Given the description of an element on the screen output the (x, y) to click on. 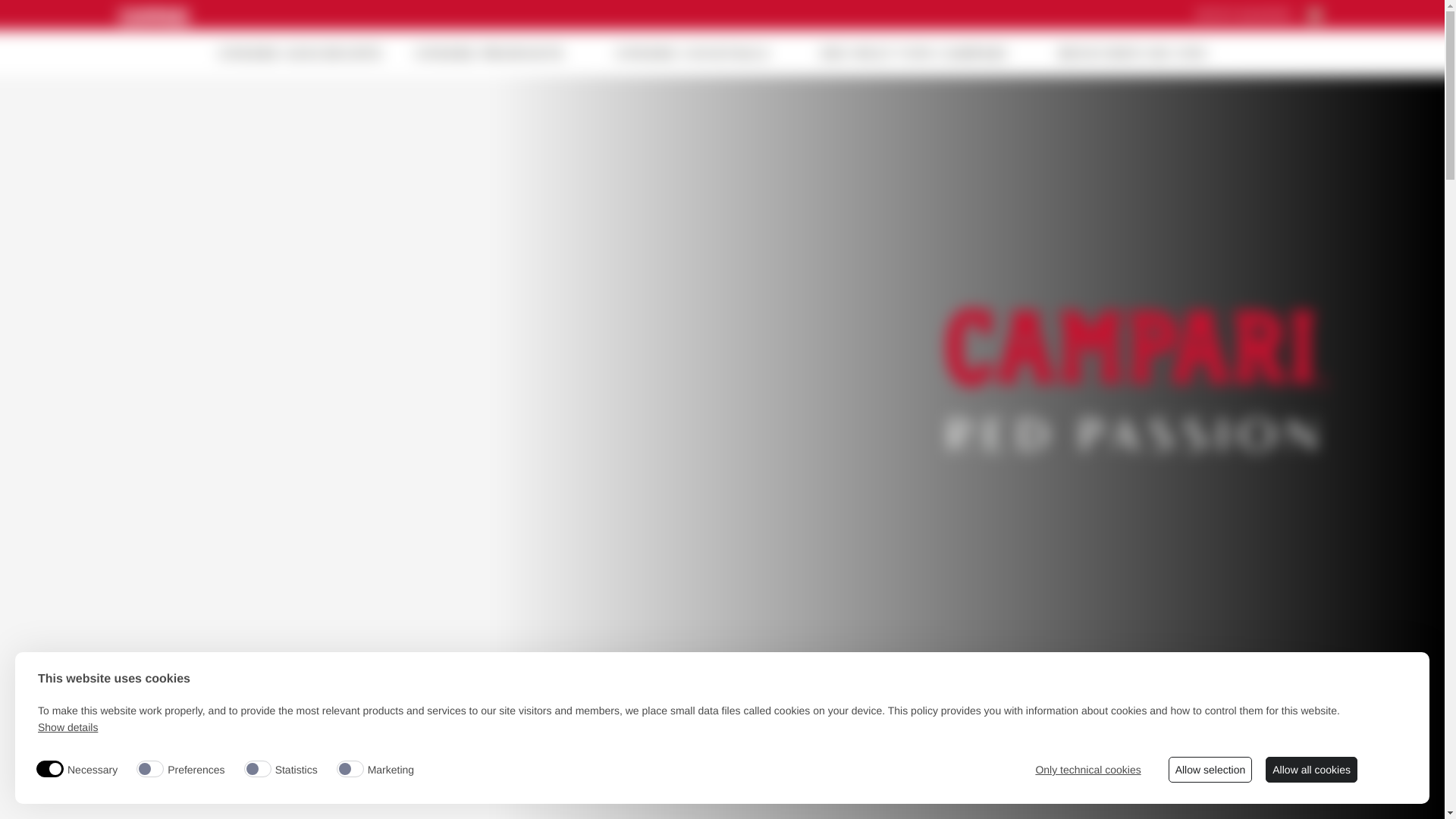
Allow all cookies Element type: text (1311, 769)
CAMPARI SODA Element type: text (794, 55)
WEITERE CAMPARI-COCKTAILS Element type: text (784, 55)
UNSERE PRODUKTE Element type: text (499, 52)
NEGRONI SBAGLIATO Element type: text (591, 55)
Show details Element type: text (67, 727)
CAMPARI Element type: text (370, 55)
GALLERIA CAMPARI Element type: text (775, 55)
CAMPARI NEGRONI Element type: text (656, 55)
UNSERE GESCHICHTE Element type: text (300, 52)
Allow selection Element type: text (1210, 769)
CAMPARINO Element type: text (644, 55)
BERLINALE Element type: text (846, 55)
UNSERE COCKTAILS Element type: text (1054, 55)
UNSERE COCKTAILS Element type: text (701, 52)
CAMPARI SPRITZ Element type: text (442, 55)
Only technical cookies Element type: text (1087, 769)
JETZT KAUFEN Element type: text (1251, 15)
NEGRONI Element type: text (331, 55)
DIE WELT VON CAMPARI Element type: text (923, 52)
UNSERE PRODUKTE Element type: text (1015, 55)
CAMPARI & KINO Element type: text (726, 55)
BESUCHEN SIE UNS Element type: text (1142, 52)
RED PASSION Element type: text (601, 55)
CAMPARI CASK TALES Element type: text (498, 55)
